Given the description of an element on the screen output the (x, y) to click on. 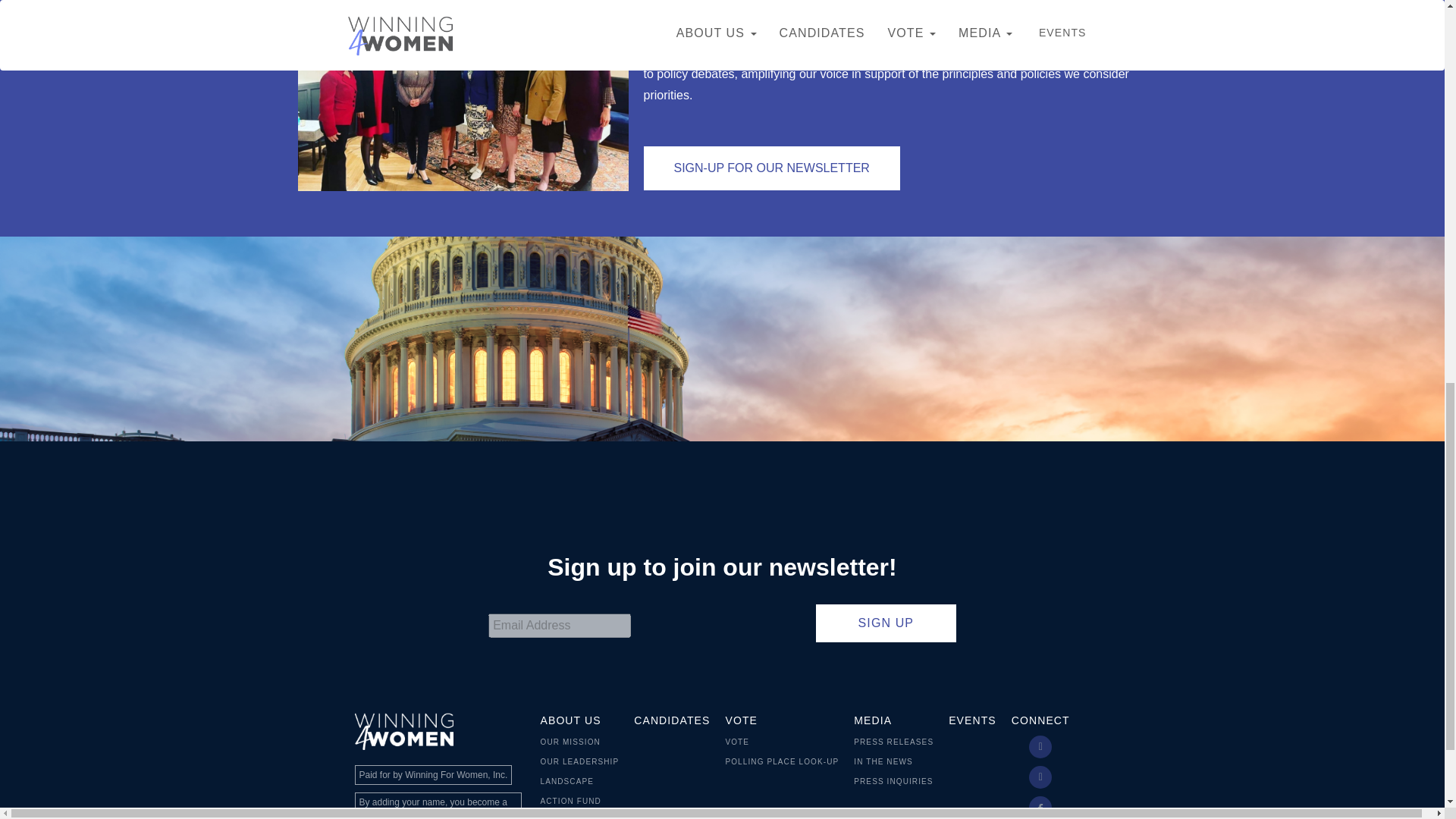
facebook (1040, 807)
Winning For Women (403, 728)
Sign Up (885, 623)
SIGN-UP FOR OUR NEWSLETTER (771, 168)
instagram (1040, 776)
twitter (1040, 746)
